Given the description of an element on the screen output the (x, y) to click on. 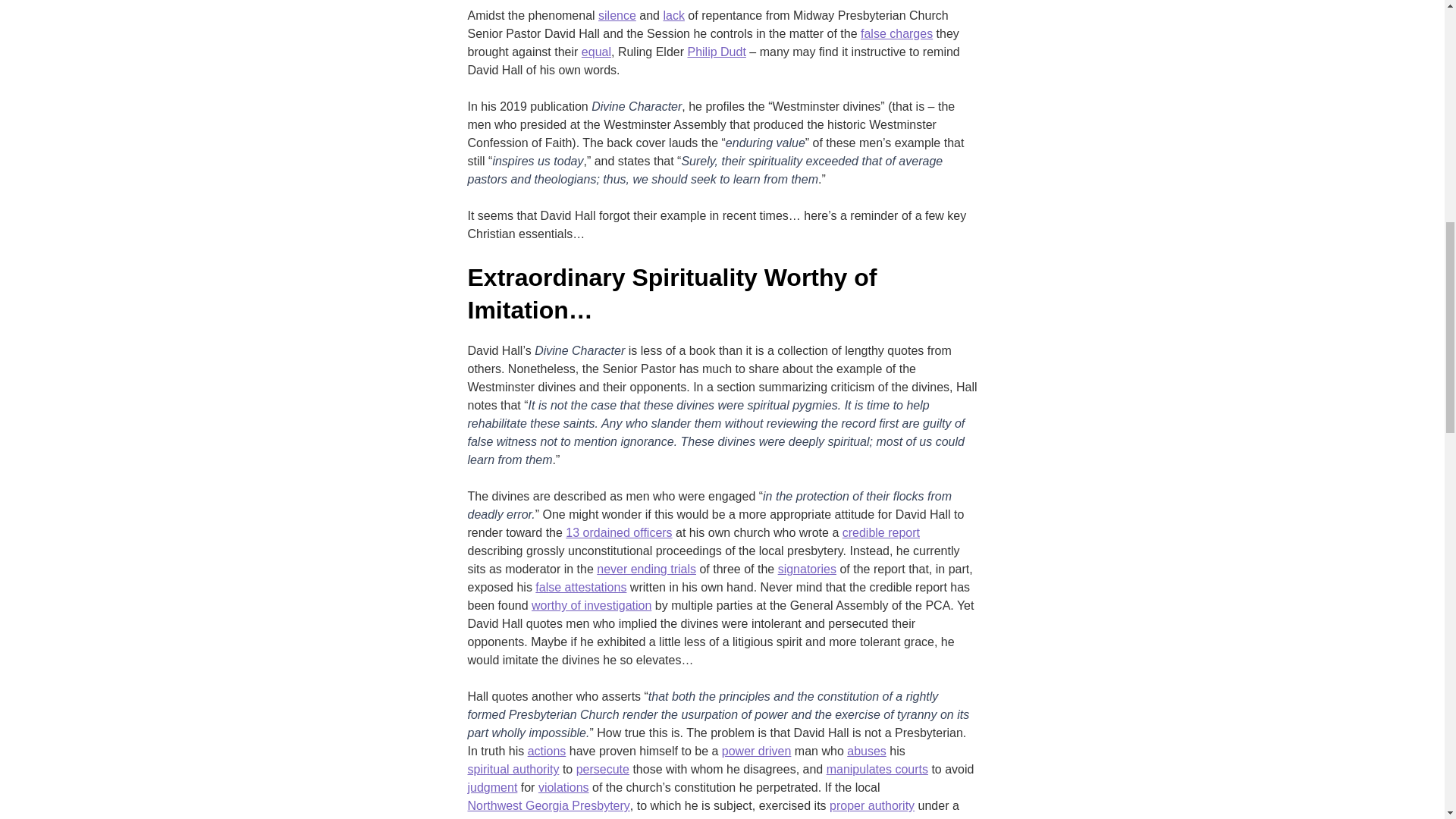
proper authority (871, 805)
signatories (806, 569)
Northwest Georgia Presbytery (547, 805)
worthy of investigation (590, 606)
silence (617, 15)
equal (595, 52)
lack (673, 15)
false attestations (580, 587)
spiritual authority (513, 769)
judgment (491, 787)
